Given the description of an element on the screen output the (x, y) to click on. 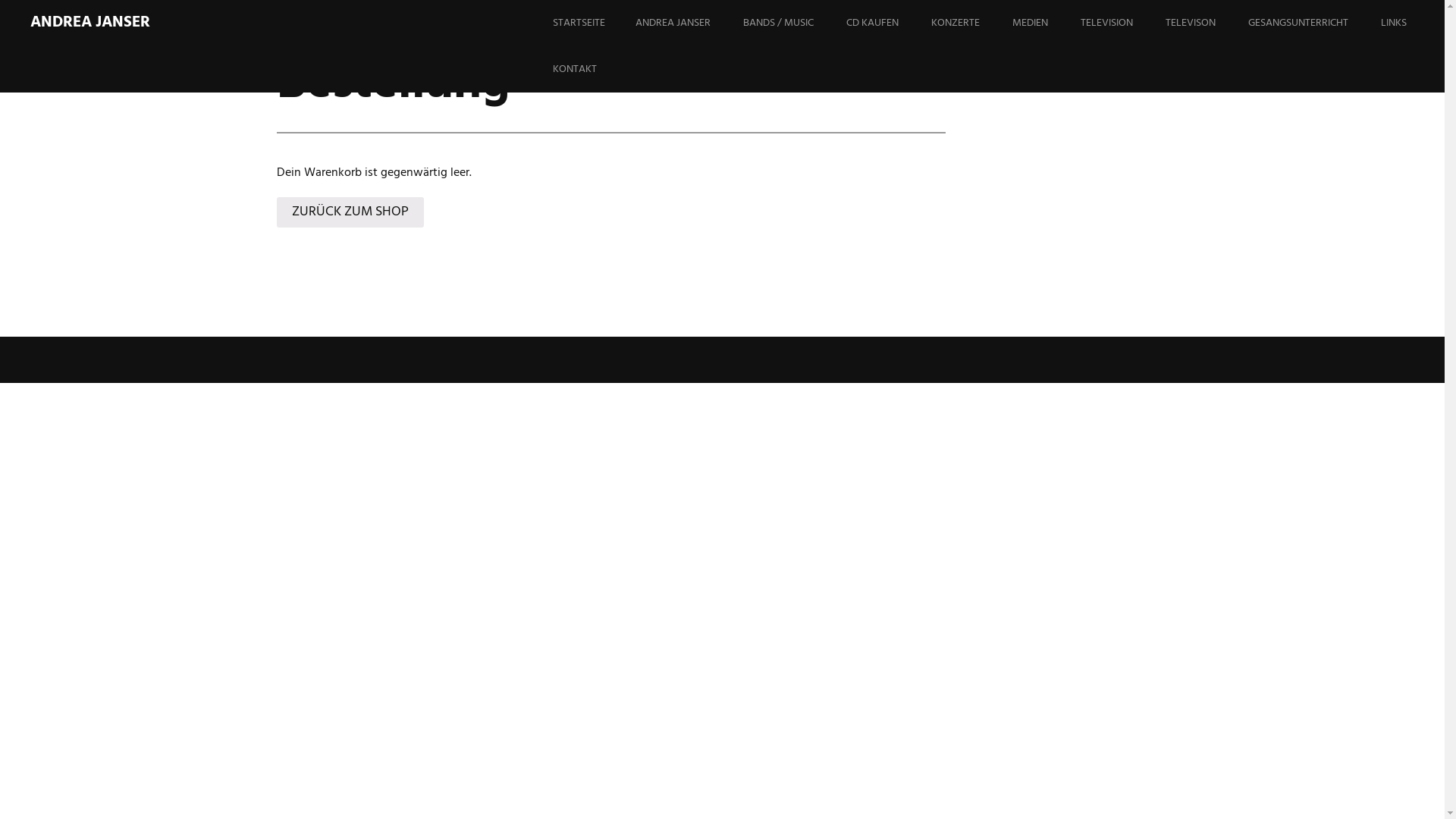
TELEVISON Element type: text (1205, 23)
BANDS / MUSIC Element type: text (793, 23)
CD KAUFEN Element type: text (887, 23)
TELEVISION Element type: text (1121, 23)
STARTSEITE Element type: text (593, 23)
KONTAKT Element type: text (589, 69)
KONZERTE Element type: text (970, 23)
LINKS Element type: text (1408, 23)
MEDIEN Element type: text (1045, 23)
ANDREA JANSER Element type: text (90, 22)
GESANGSUNTERRICHT Element type: text (1313, 23)
ANDREA JANSER Element type: text (687, 23)
